Given the description of an element on the screen output the (x, y) to click on. 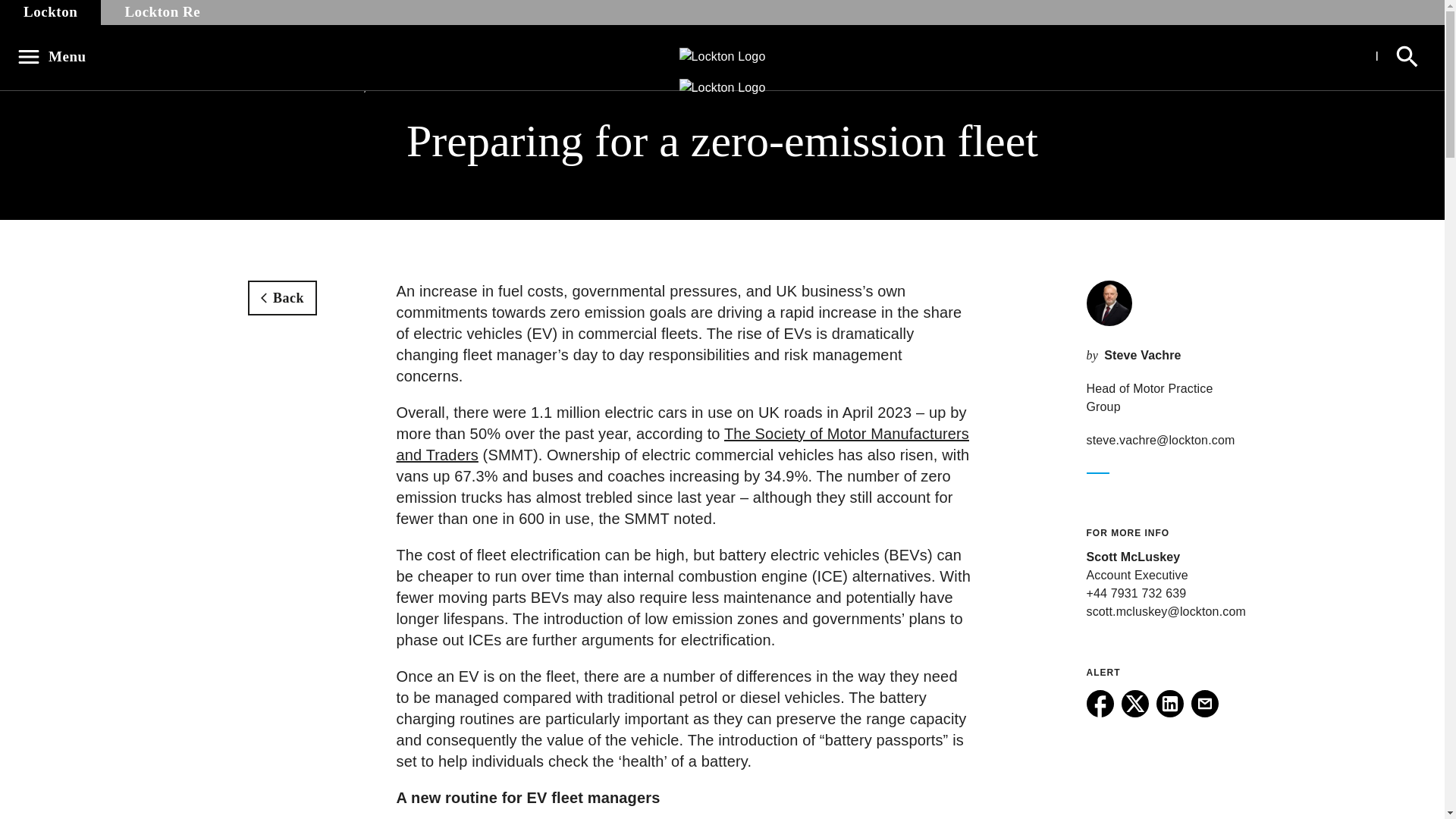
undefinedFacebook (1099, 703)
Follow Lockton on Twitter (1134, 712)
undefinedTwitter (1134, 703)
Share Lockton on Facebook (1099, 712)
Follow Lockton on Email (1204, 712)
Follow Lockton on LinkedIn (1169, 712)
Skip to main content (19, 8)
Menu (55, 56)
Share Lockton on LinkedIn (1169, 712)
Send Lockton an Email (1204, 712)
